Given the description of an element on the screen output the (x, y) to click on. 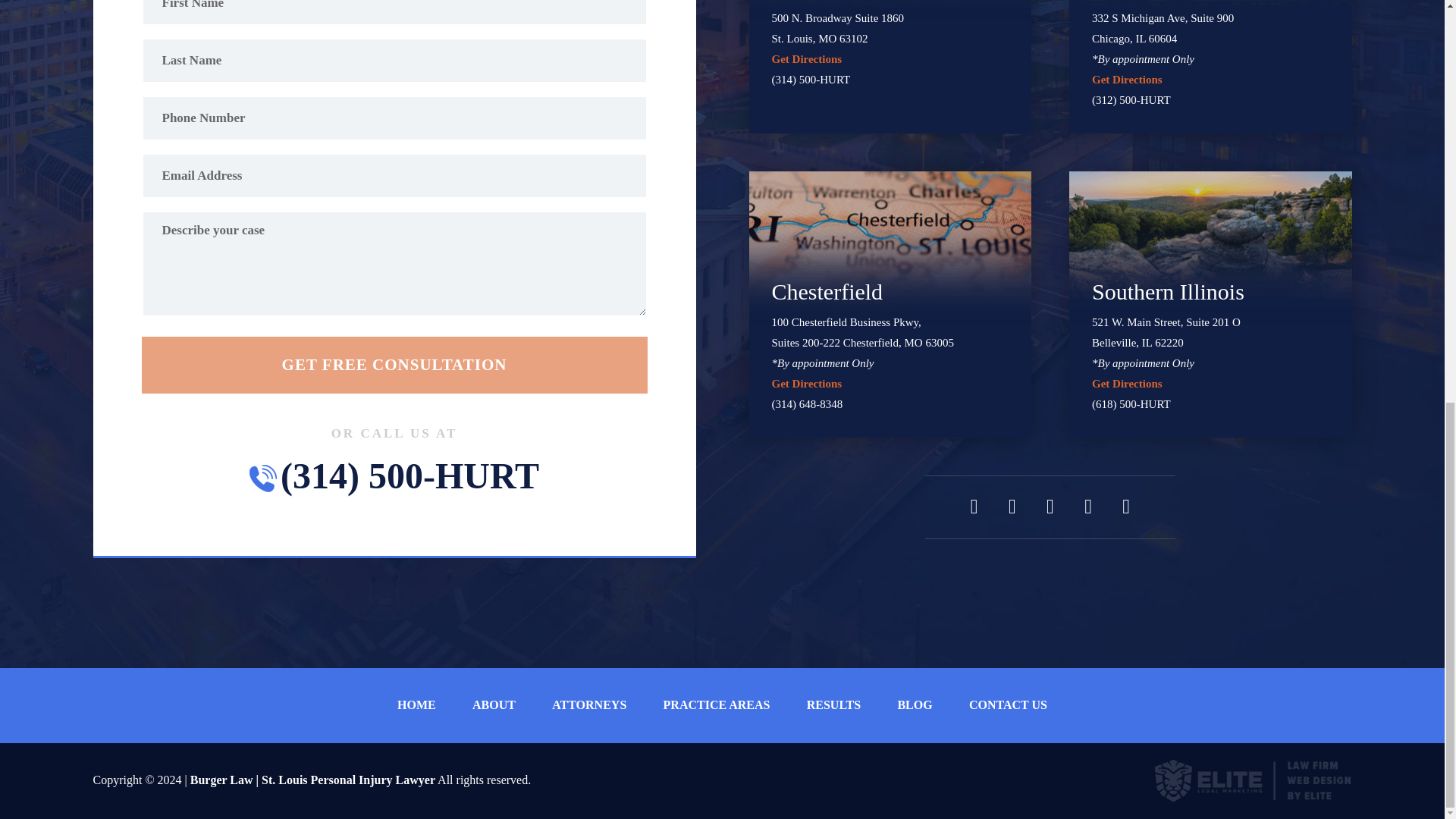
Get Free Consultation (393, 364)
